Given the description of an element on the screen output the (x, y) to click on. 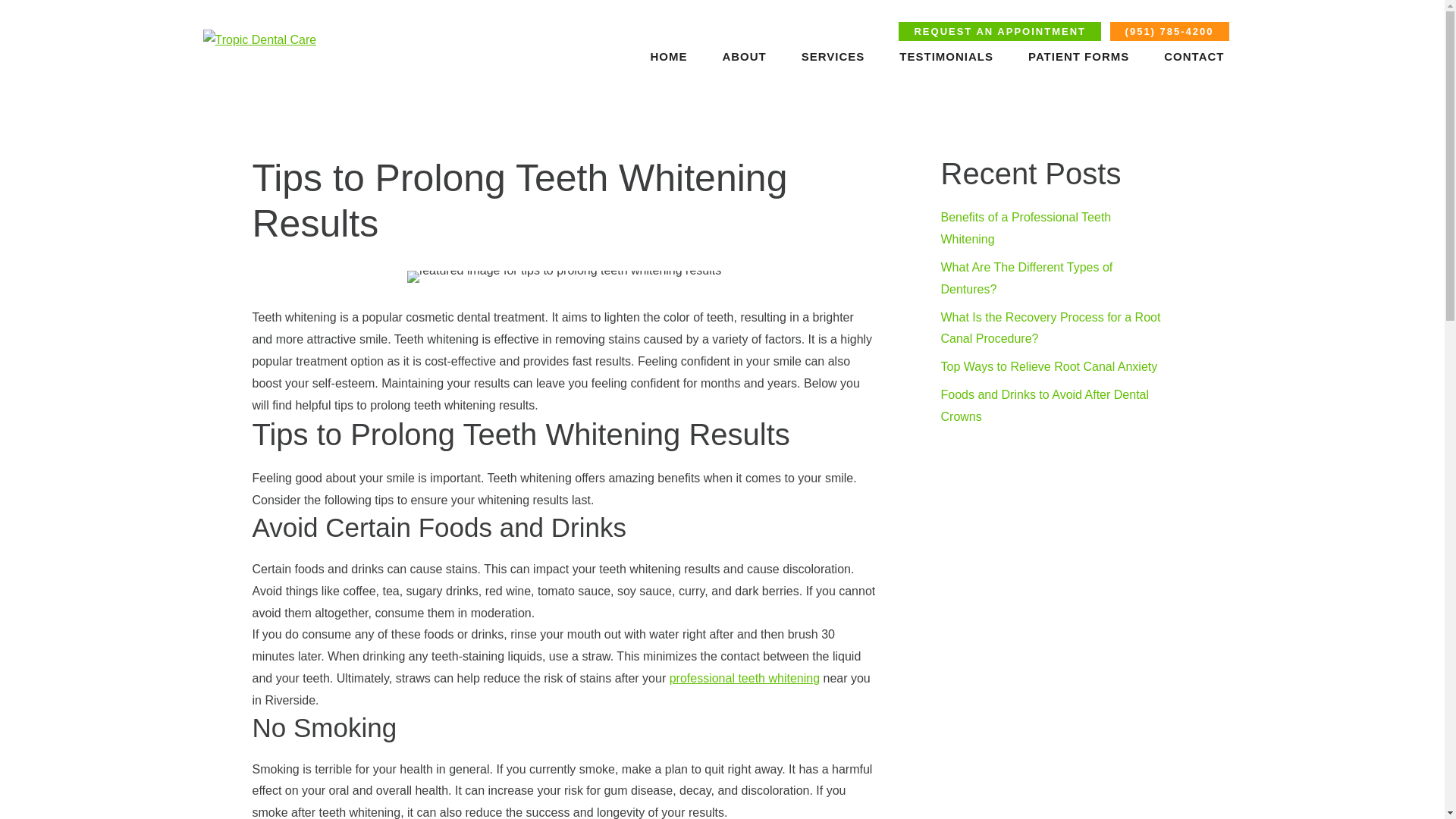
What Are The Different Types of Dentures? (1026, 278)
HOME (667, 56)
Top Ways to Relieve Root Canal Anxiety (1048, 366)
TESTIMONIALS (946, 56)
ABOUT (743, 56)
REQUEST AN APPOINTMENT (999, 31)
PATIENT FORMS (1078, 56)
Tropic Dental Care (260, 40)
Benefits of a Professional Teeth Whitening (1025, 227)
Foods and Drinks to Avoid After Dental Crowns (1044, 405)
CONTACT (1194, 56)
SERVICES (833, 56)
Tropic Dental Care (260, 39)
professional teeth whitening (744, 677)
What Is the Recovery Process for a Root Canal Procedure? (1050, 328)
